Given the description of an element on the screen output the (x, y) to click on. 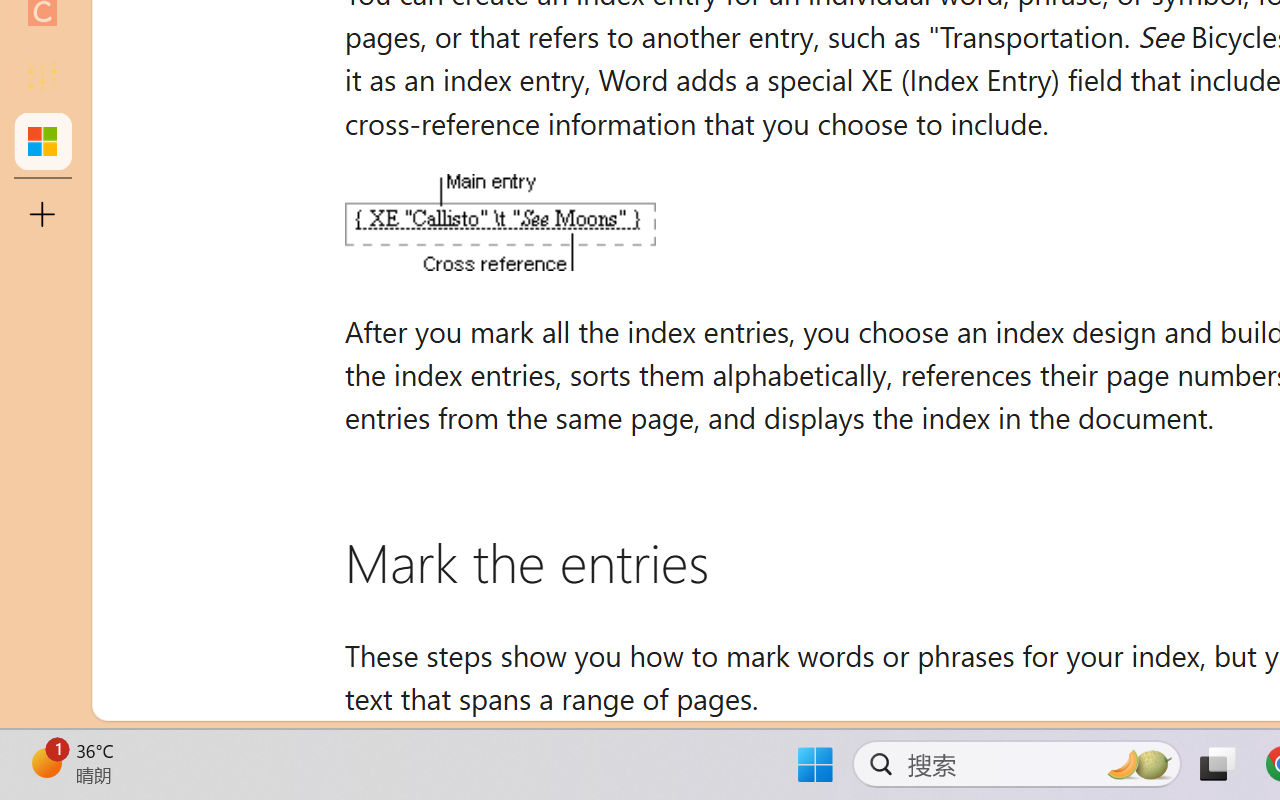
Create and update an index - Microsoft Support (42, 140)
An XE (Index Entry) field (499, 221)
